Given the description of an element on the screen output the (x, y) to click on. 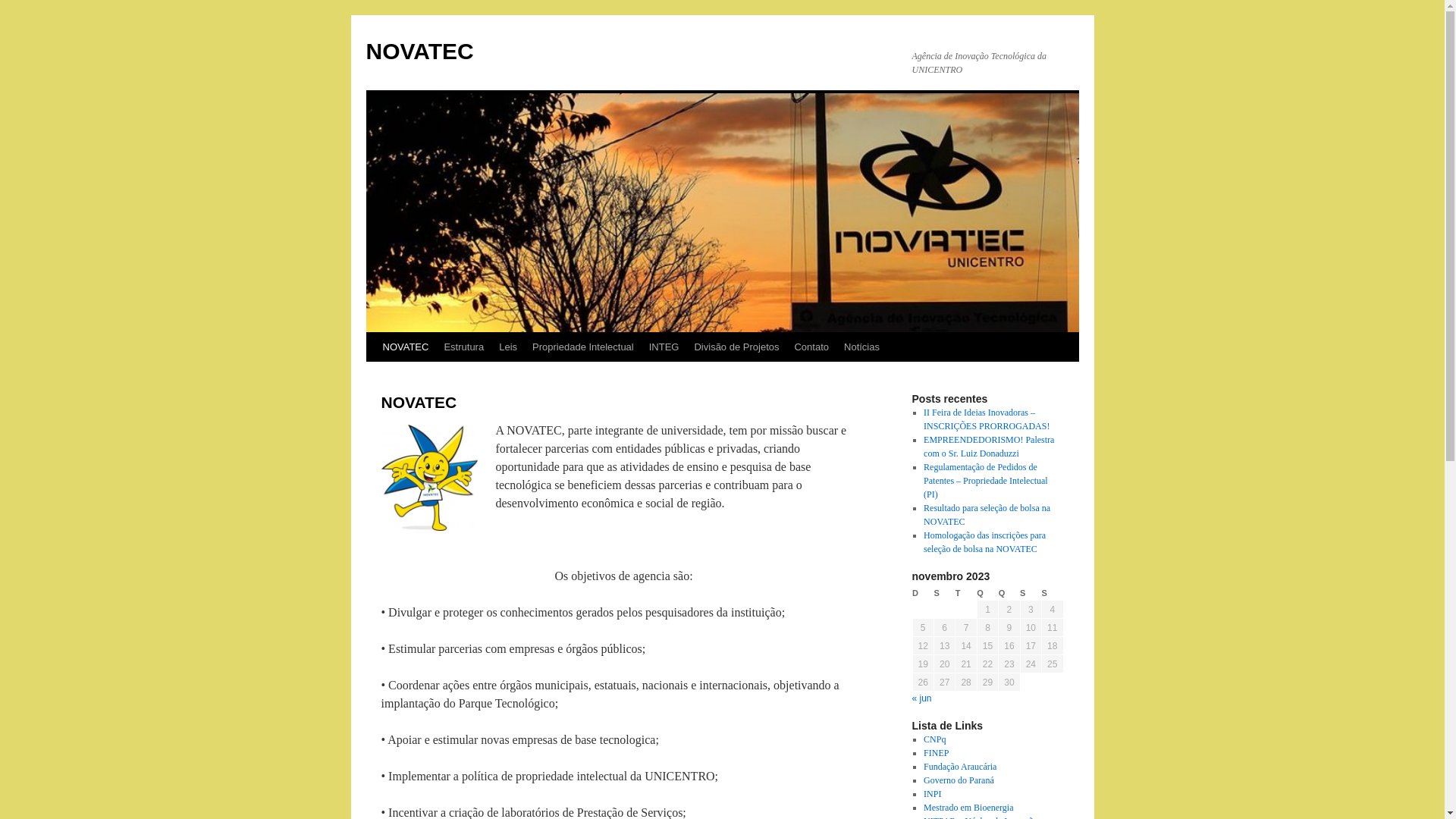
INTEG Element type: text (664, 346)
Leis Element type: text (507, 346)
Estrutura Element type: text (463, 346)
NOVATEC Element type: text (419, 50)
CNPq Element type: text (934, 739)
Contato Element type: text (811, 346)
Mestrado em Bioenergia Element type: text (968, 807)
FINEP Element type: text (935, 752)
Propriedade Intelectual Element type: text (582, 346)
NOVATEC Element type: text (405, 346)
INPI Element type: text (932, 793)
EMPREENDEDORISMO! Palestra com o Sr. Luiz Donaduzzi Element type: text (988, 446)
